Given the description of an element on the screen output the (x, y) to click on. 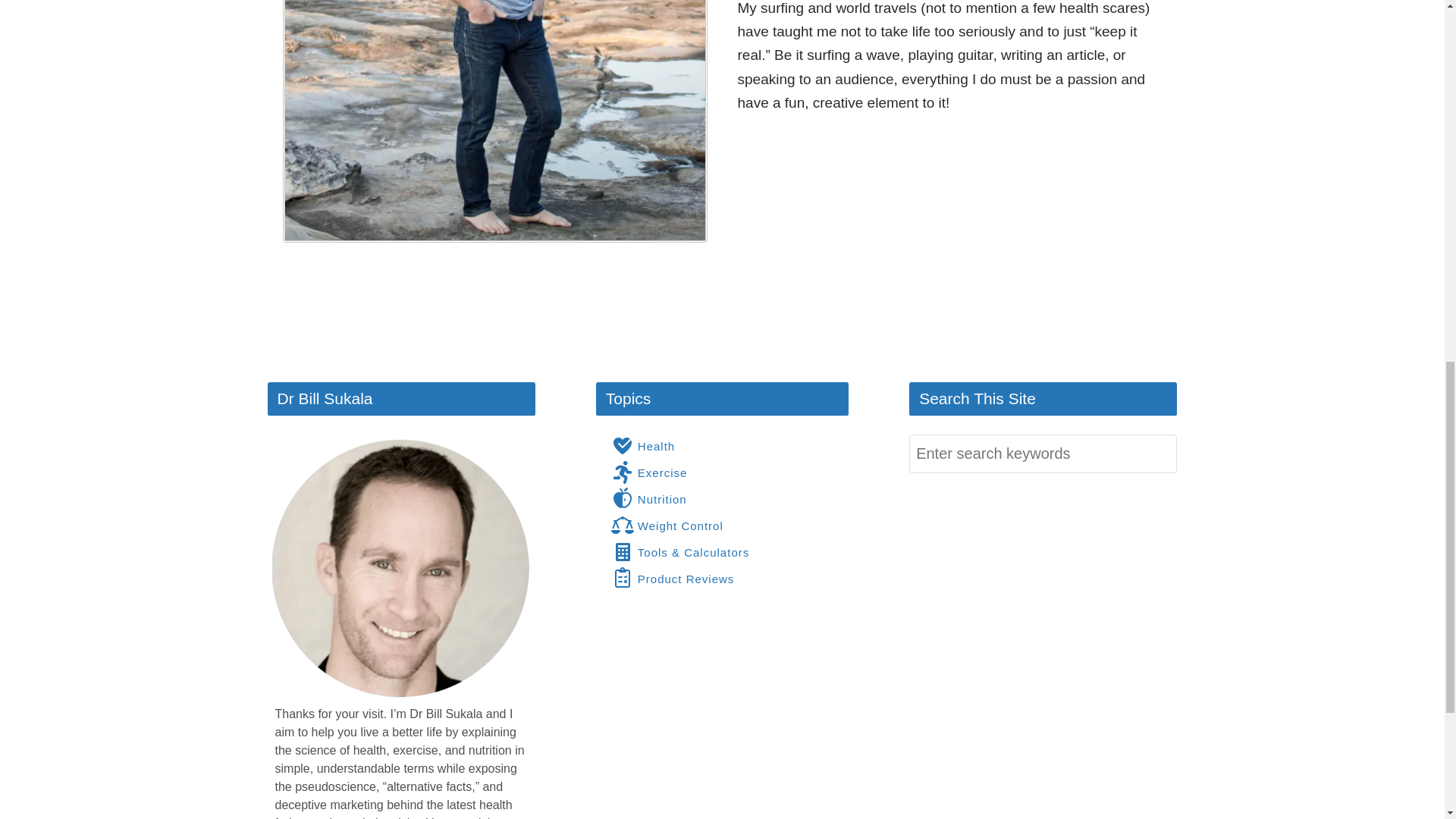
Product Reviews (673, 578)
Exercise (649, 472)
Weight Control (667, 525)
Nutrition (649, 498)
Search for: (1042, 453)
Health (643, 445)
